Given the description of an element on the screen output the (x, y) to click on. 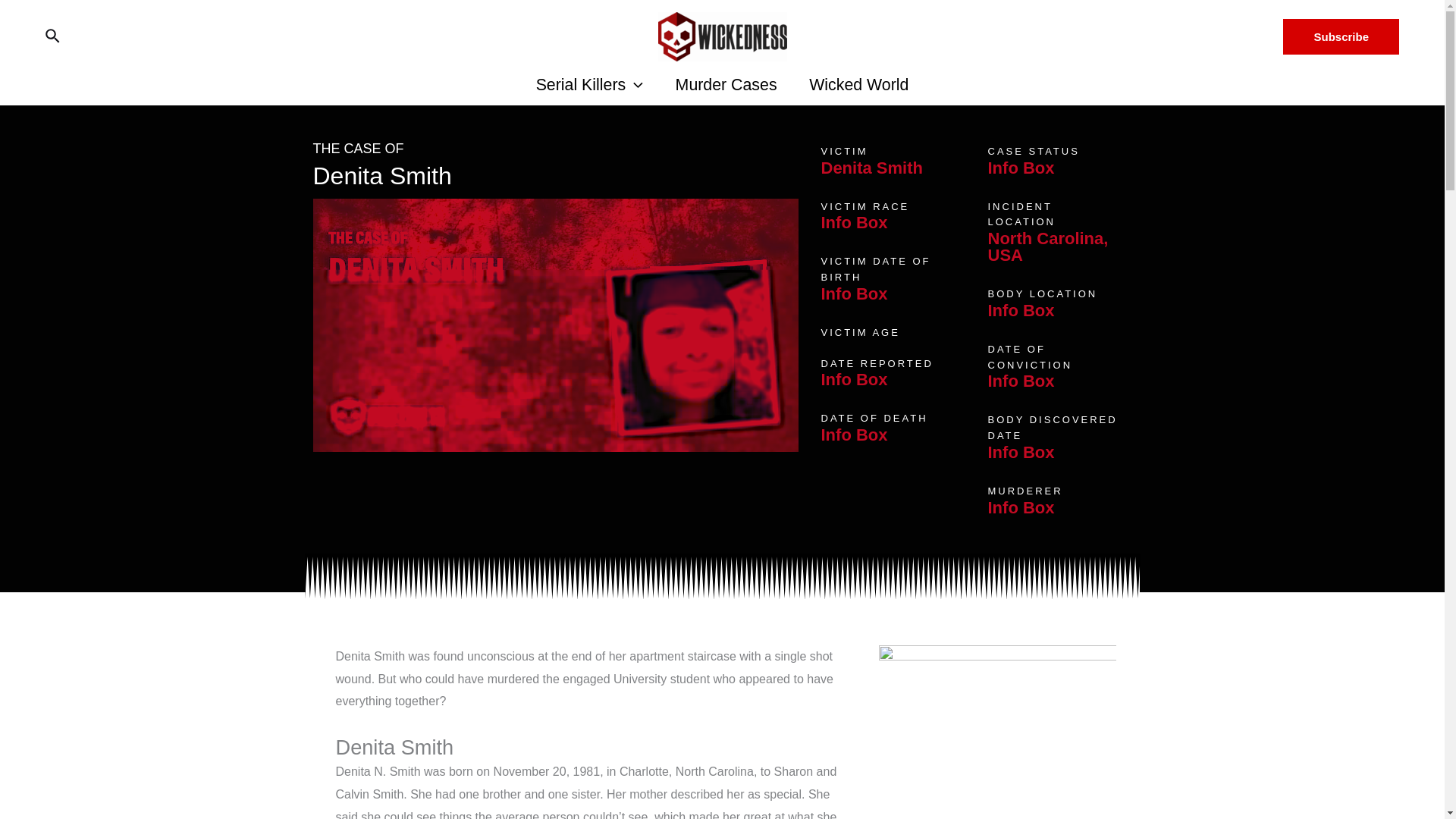
Search (53, 36)
Wicked World (858, 84)
Murder Cases (726, 84)
Serial Killers (589, 84)
Subscribe (1340, 36)
